Given the description of an element on the screen output the (x, y) to click on. 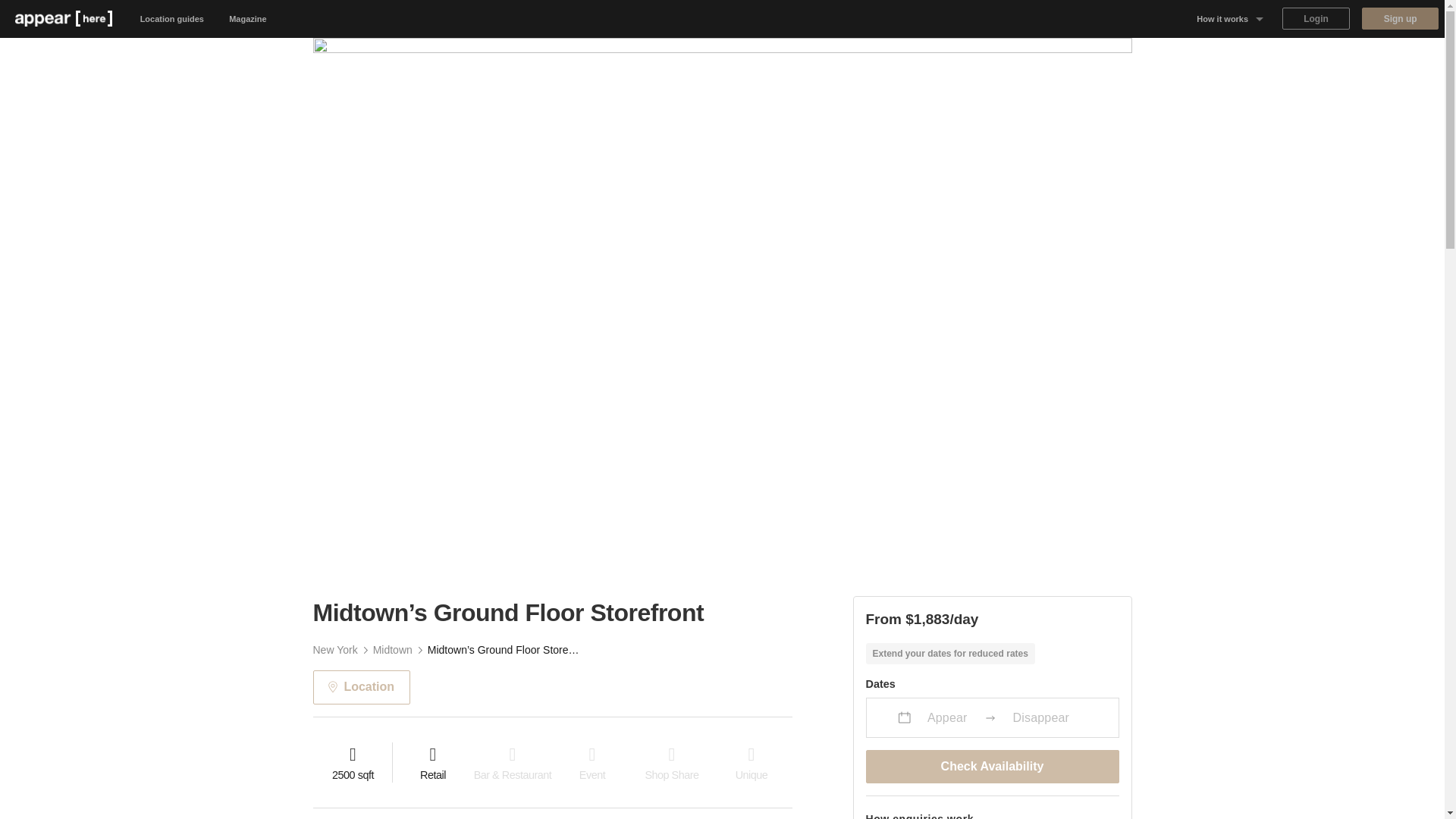
Magazine (247, 18)
Location guides (172, 18)
How it works (1230, 18)
